Given the description of an element on the screen output the (x, y) to click on. 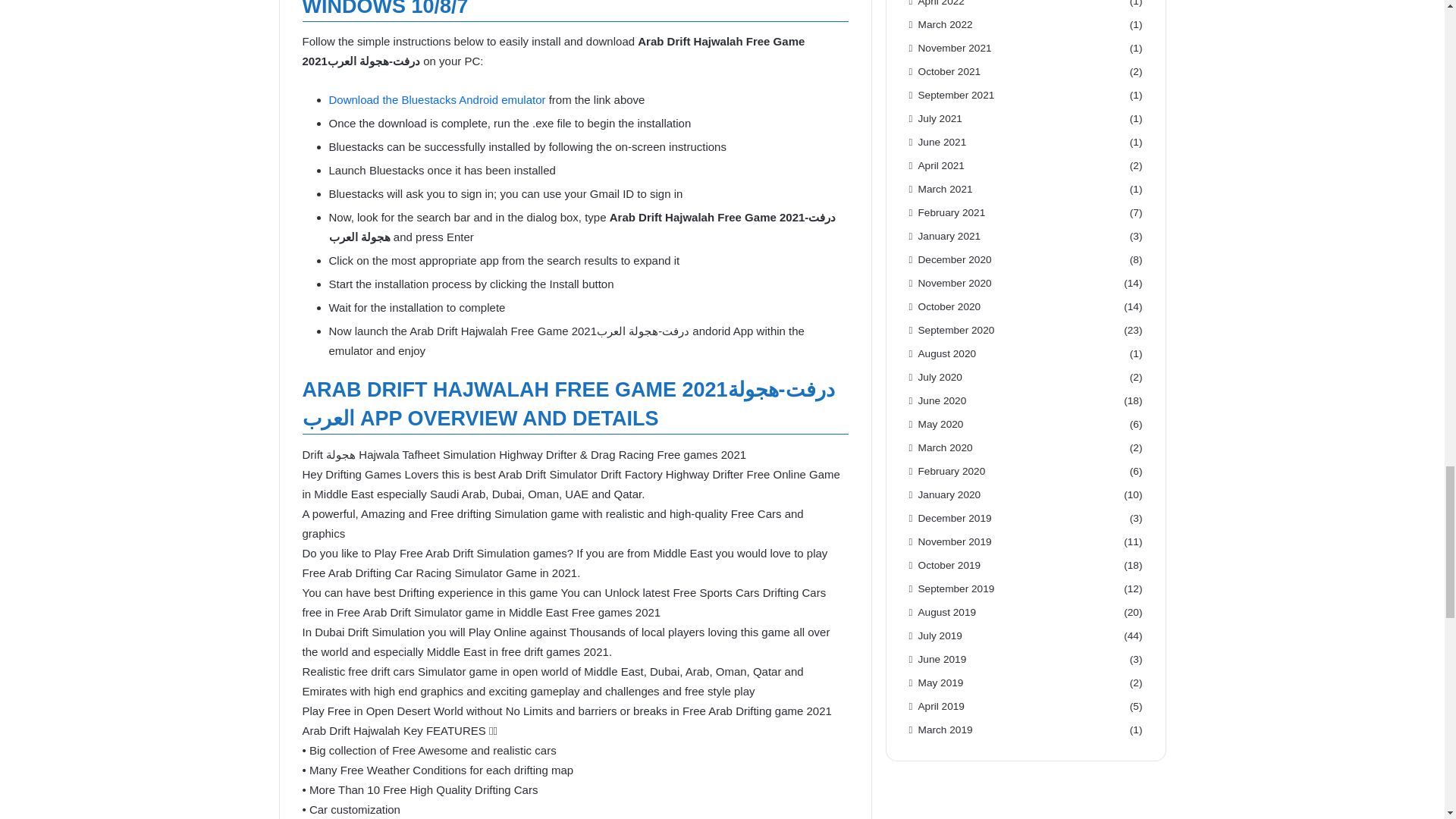
Download the Bluestacks Android emulator (438, 99)
